Given the description of an element on the screen output the (x, y) to click on. 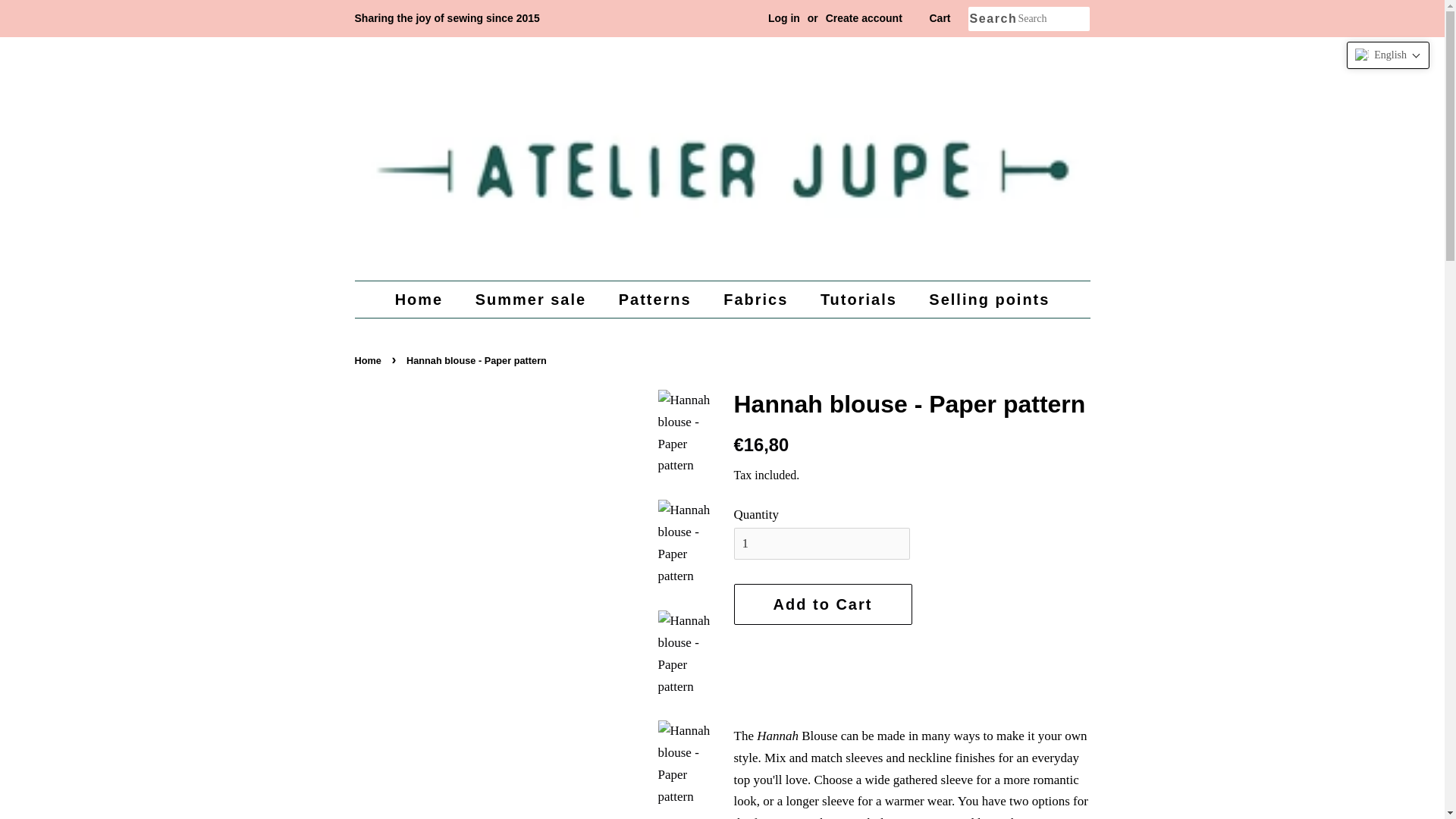
Log in (783, 18)
Summer sale (532, 299)
Create account (863, 18)
1 (821, 543)
Home (426, 299)
Home (370, 360)
Back to the frontpage (370, 360)
Tutorials (860, 299)
Fabrics (757, 299)
Selling points (983, 299)
Search (992, 18)
Patterns (656, 299)
Cart (939, 18)
